Given the description of an element on the screen output the (x, y) to click on. 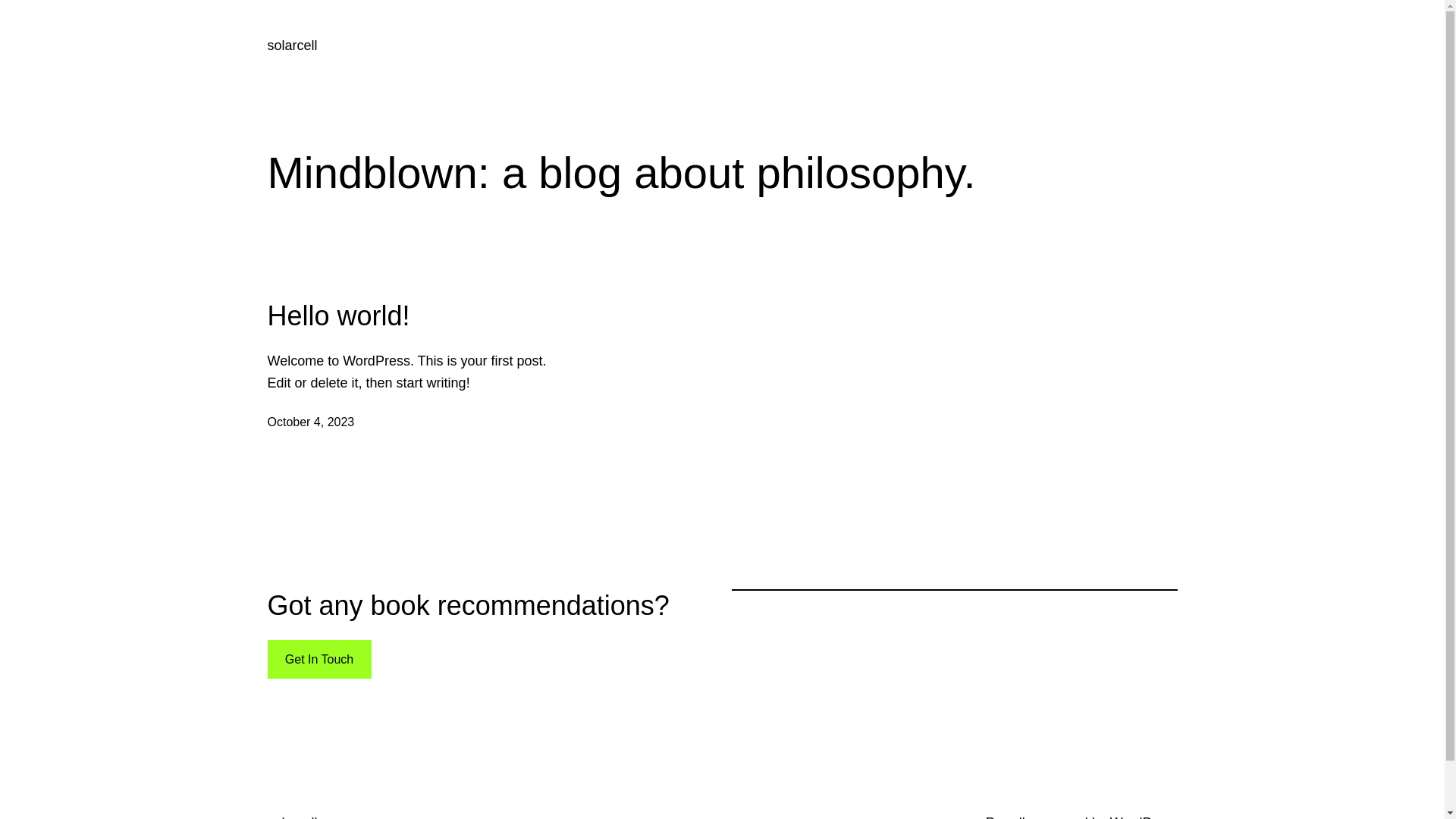
solarcell Element type: text (291, 45)
Hello world! Element type: text (337, 315)
Get In Touch Element type: text (318, 659)
October 4, 2023 Element type: text (310, 421)
